Given the description of an element on the screen output the (x, y) to click on. 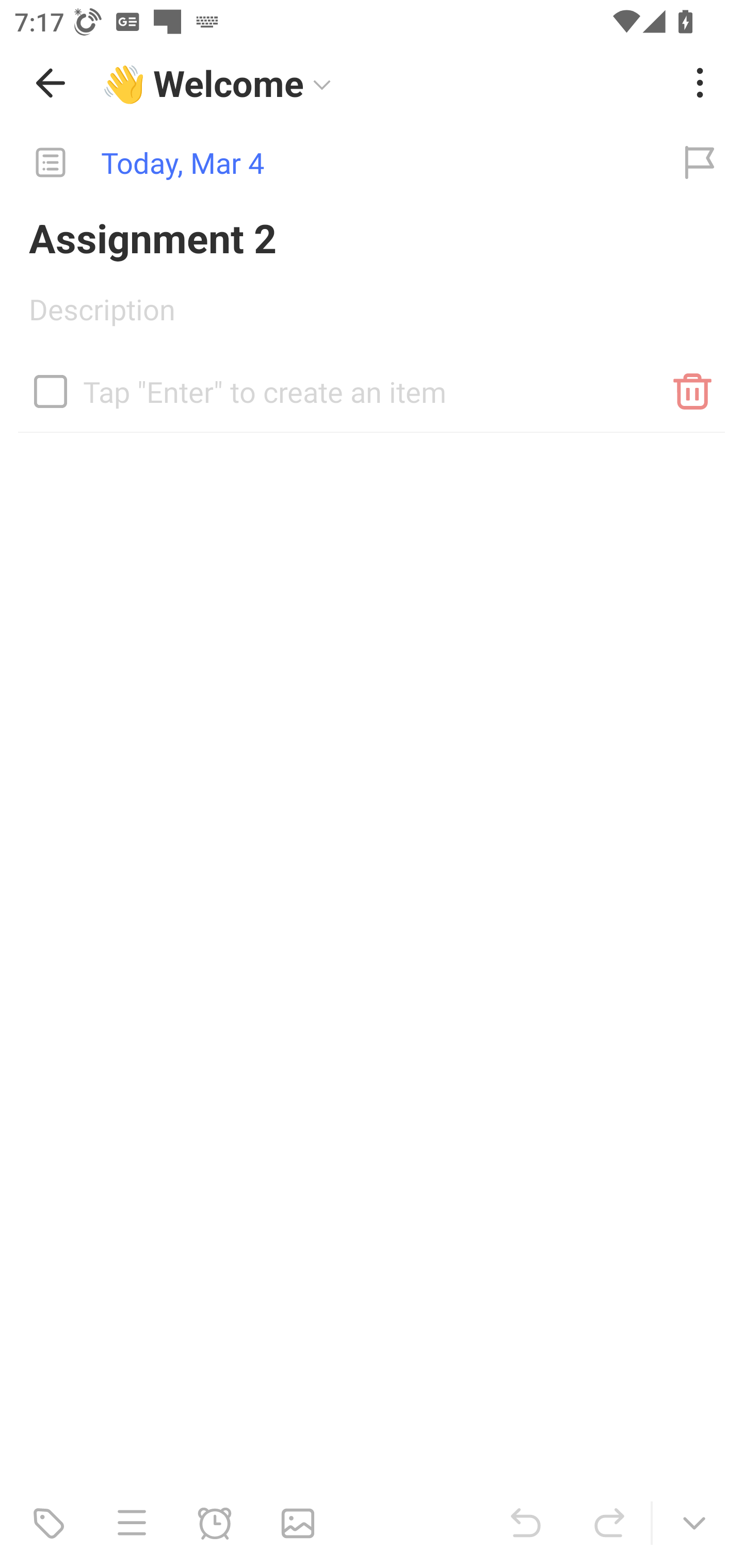
👋 Welcome (384, 82)
Today, Mar 4  (328, 163)
Assignment 2 (371, 237)
Description (371, 315)
  (50, 390)
Tap "Enter" to create an item (371, 383)
